Given the description of an element on the screen output the (x, y) to click on. 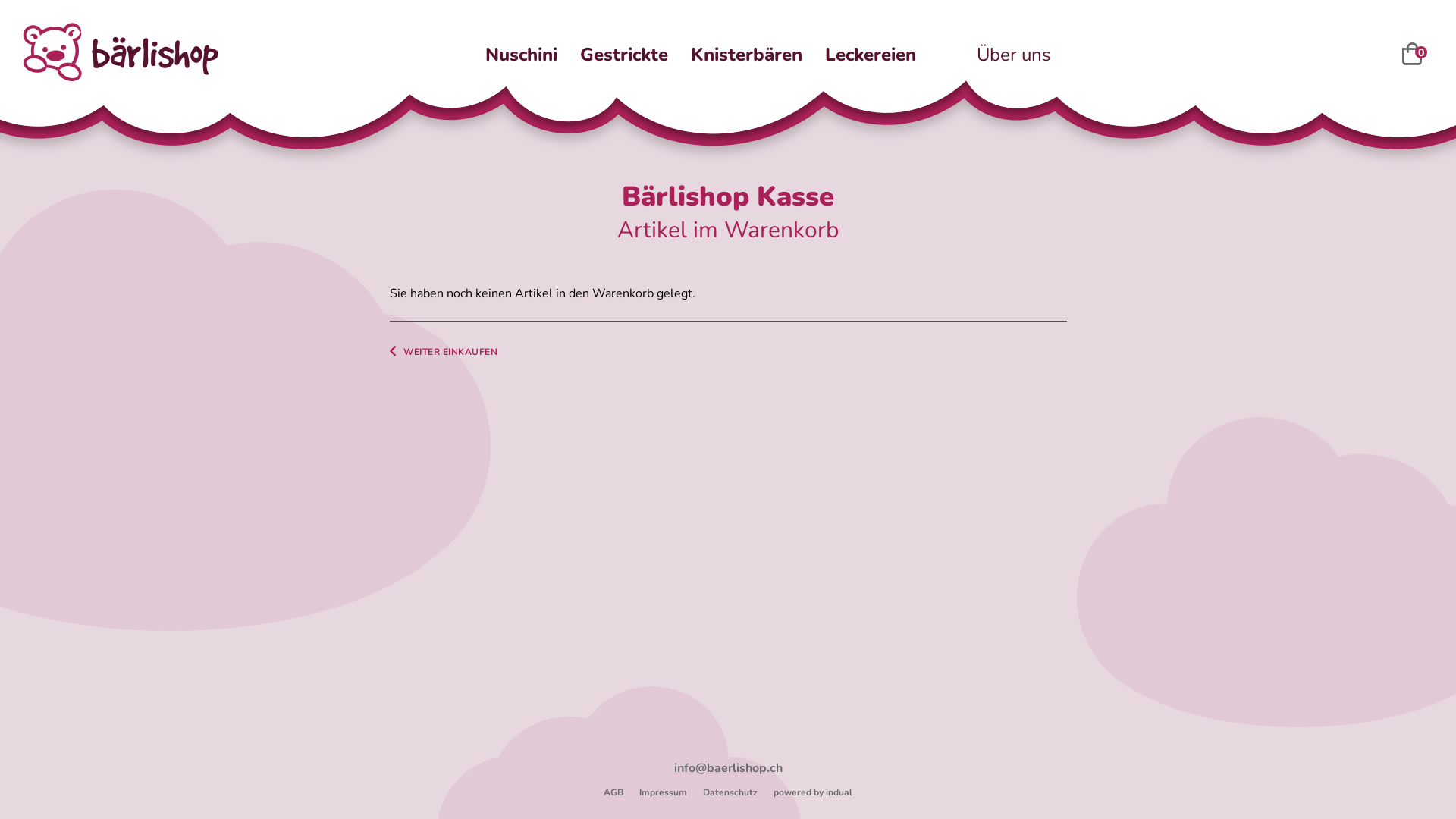
Gestrickte Element type: text (624, 54)
0 Element type: text (1411, 58)
WEITER EINKAUFEN Element type: text (443, 350)
Nuschini Element type: text (521, 54)
AGB Element type: text (613, 792)
Leckereien Element type: text (870, 54)
powered by indual Element type: text (812, 792)
Datenschutz Element type: text (729, 792)
info@baerlishop.ch Element type: text (727, 767)
Impressum Element type: text (663, 792)
